Given the description of an element on the screen output the (x, y) to click on. 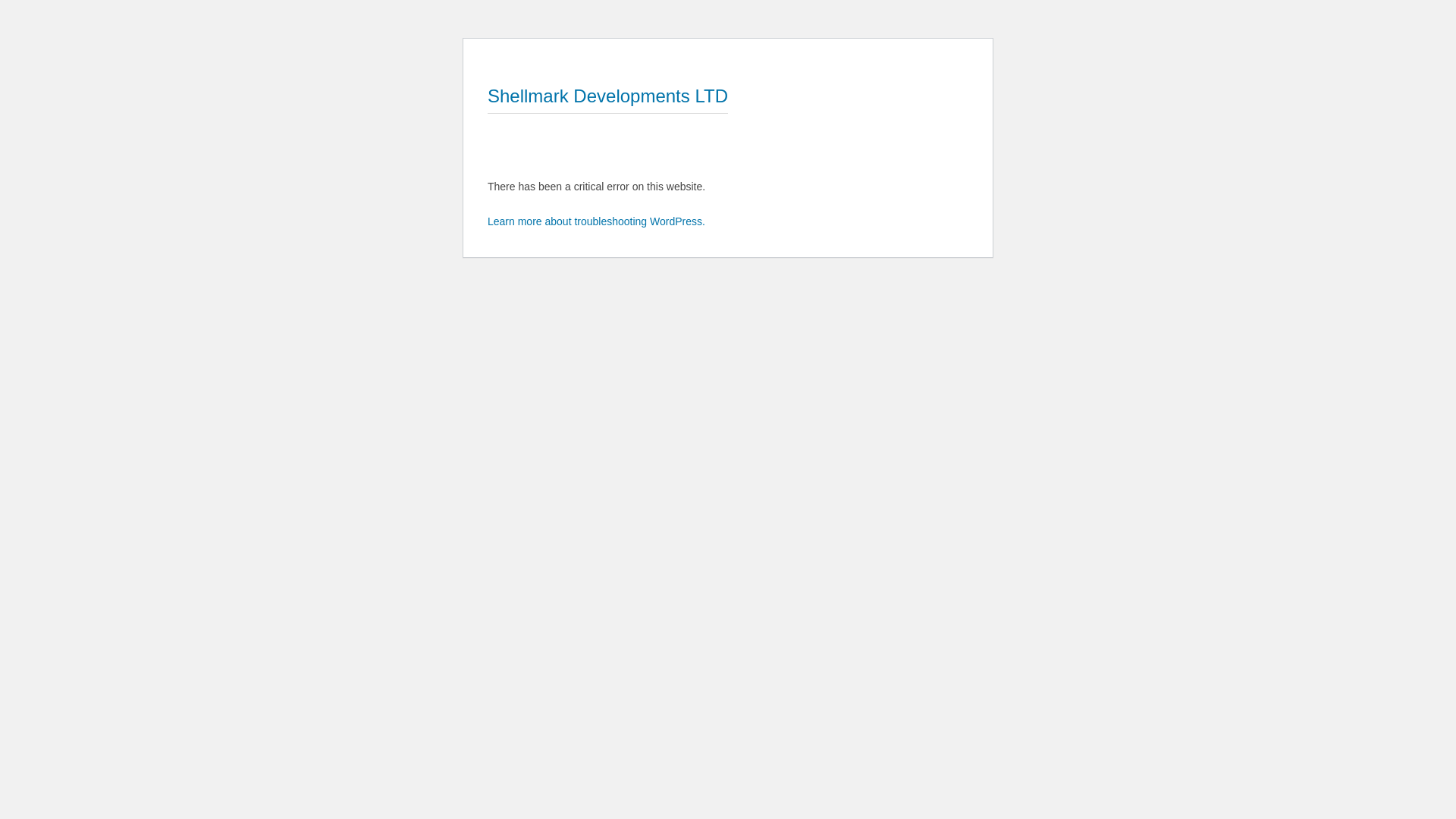
Shellmark Developments LTD Element type: text (607, 95)
Learn more about troubleshooting WordPress. Element type: text (596, 221)
Skip to content Element type: text (486, 50)
